Given the description of an element on the screen output the (x, y) to click on. 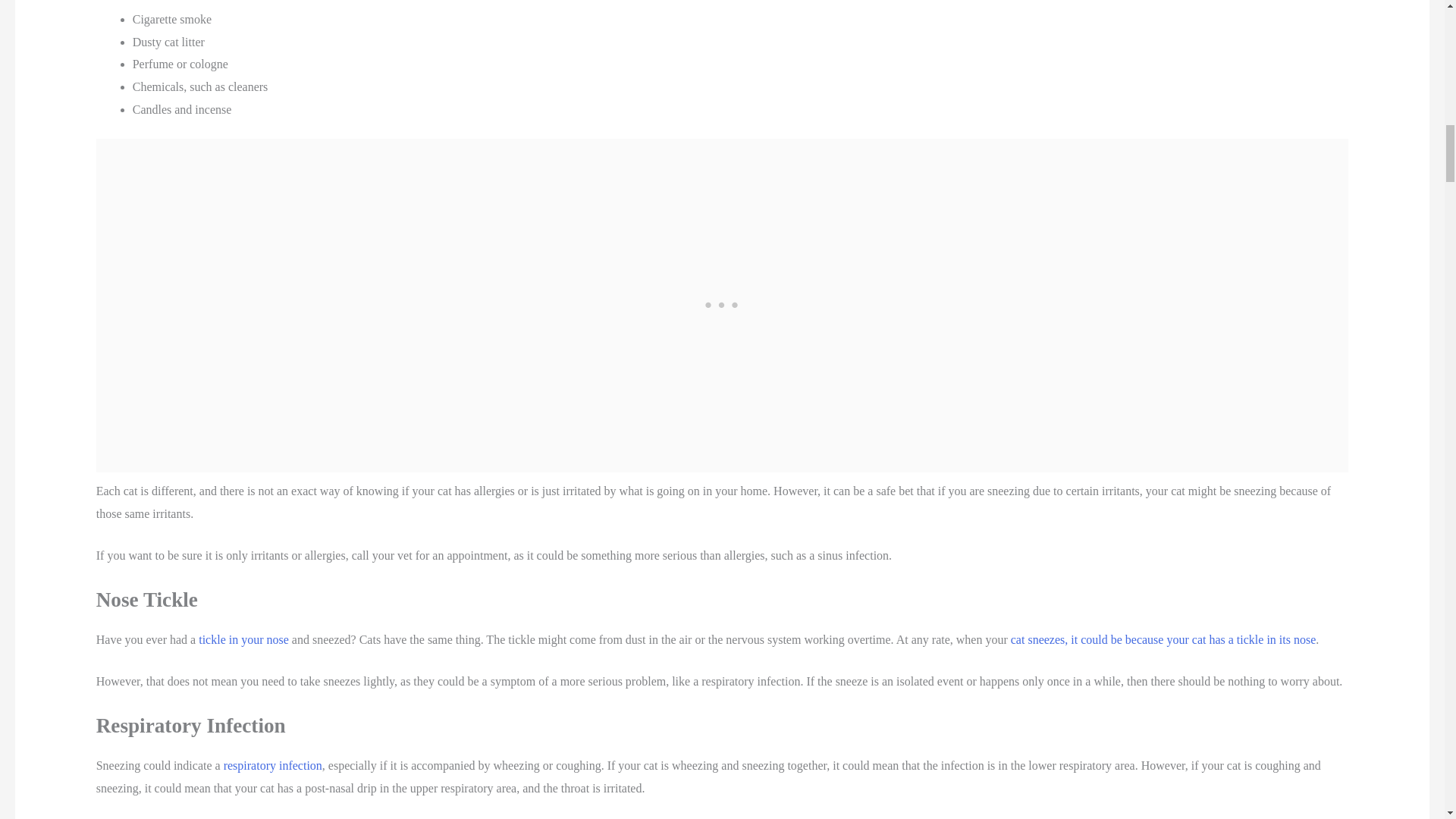
tickle in your nose (243, 639)
respiratory infection (272, 765)
